Given the description of an element on the screen output the (x, y) to click on. 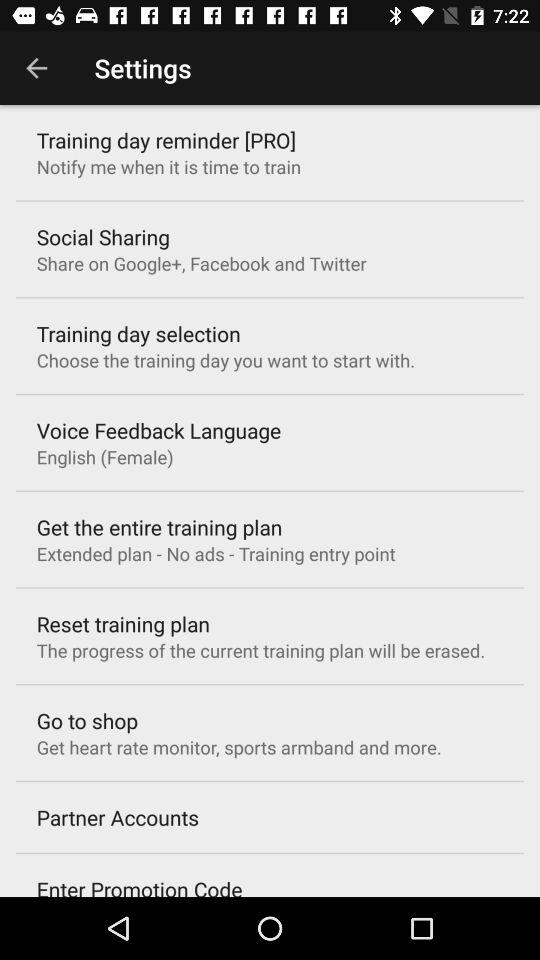
select icon below training day reminder icon (168, 166)
